Given the description of an element on the screen output the (x, y) to click on. 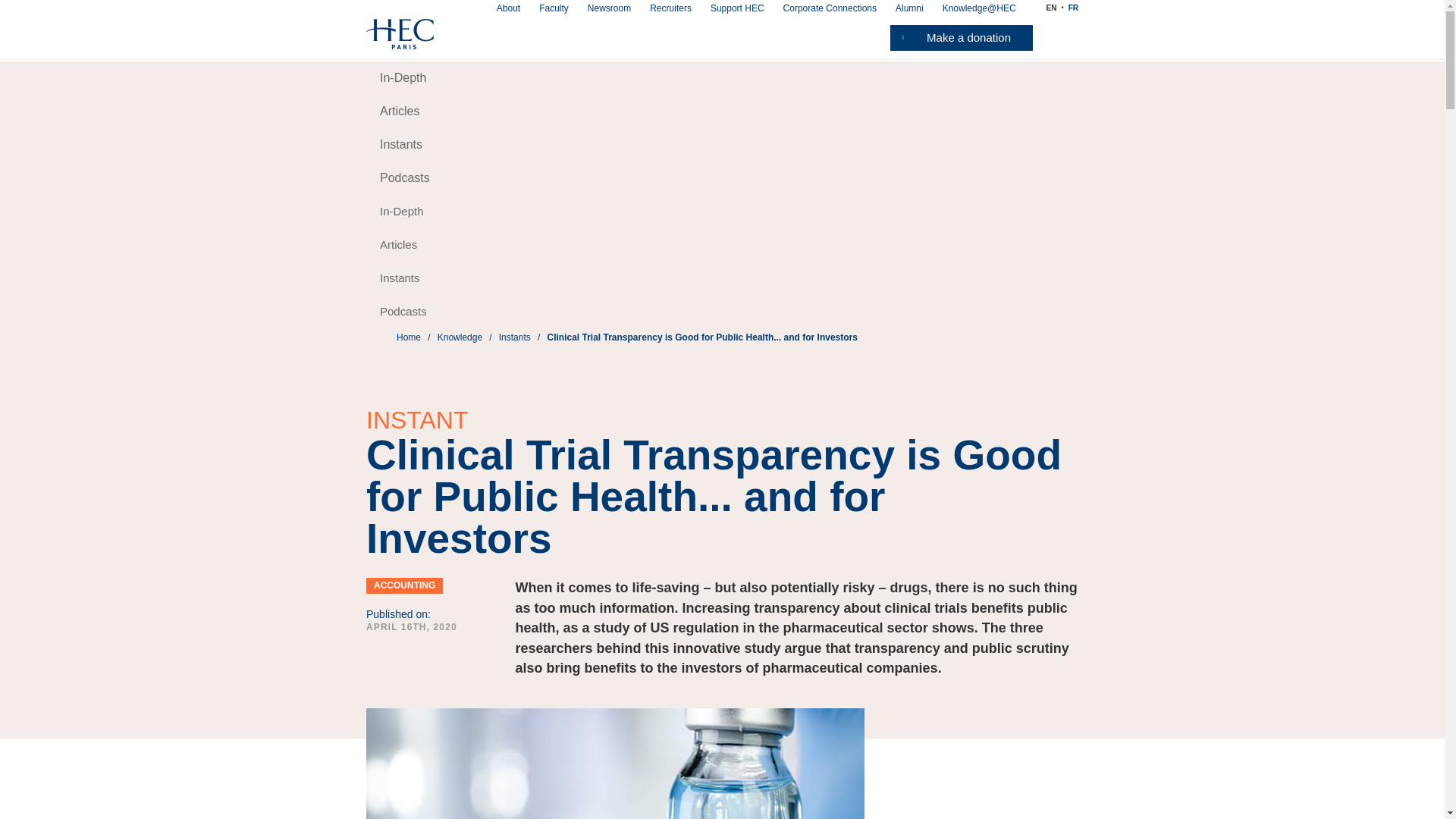
Faculty (553, 8)
Support HEC (737, 8)
FR (1073, 8)
Corporate Connections (829, 8)
Faculty (553, 8)
Alumni (909, 8)
Support HEC (737, 8)
Corporate Connections (829, 8)
Recruiters (670, 8)
